Given the description of an element on the screen output the (x, y) to click on. 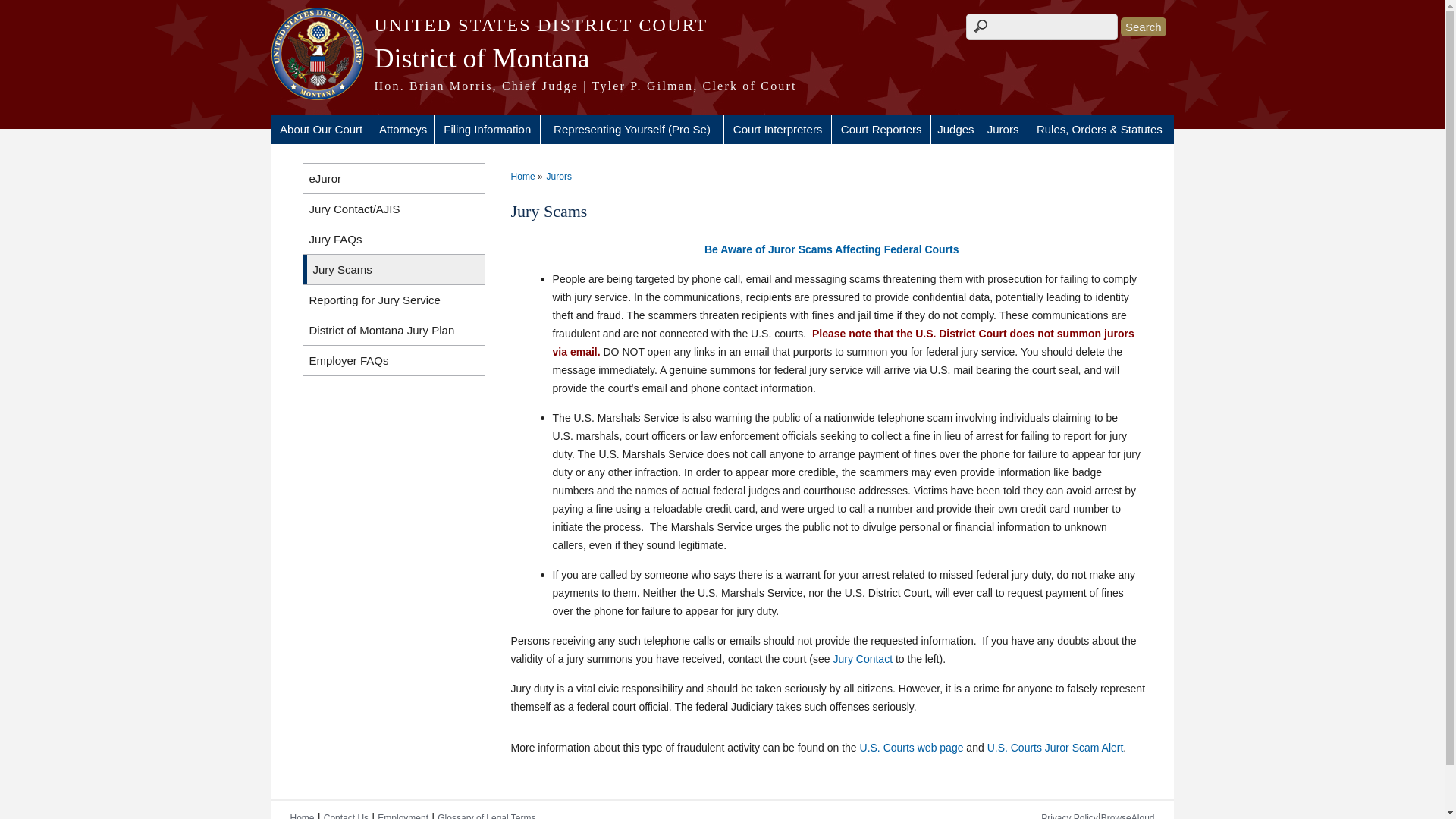
Home (721, 86)
About Our Court (320, 129)
Search (1143, 26)
Home (721, 57)
UNITED STATES DISTRICT COURT (721, 25)
Home (721, 25)
Attorneys (402, 129)
Enter the terms you wish to search for. (1042, 26)
Search (1143, 26)
